Given the description of an element on the screen output the (x, y) to click on. 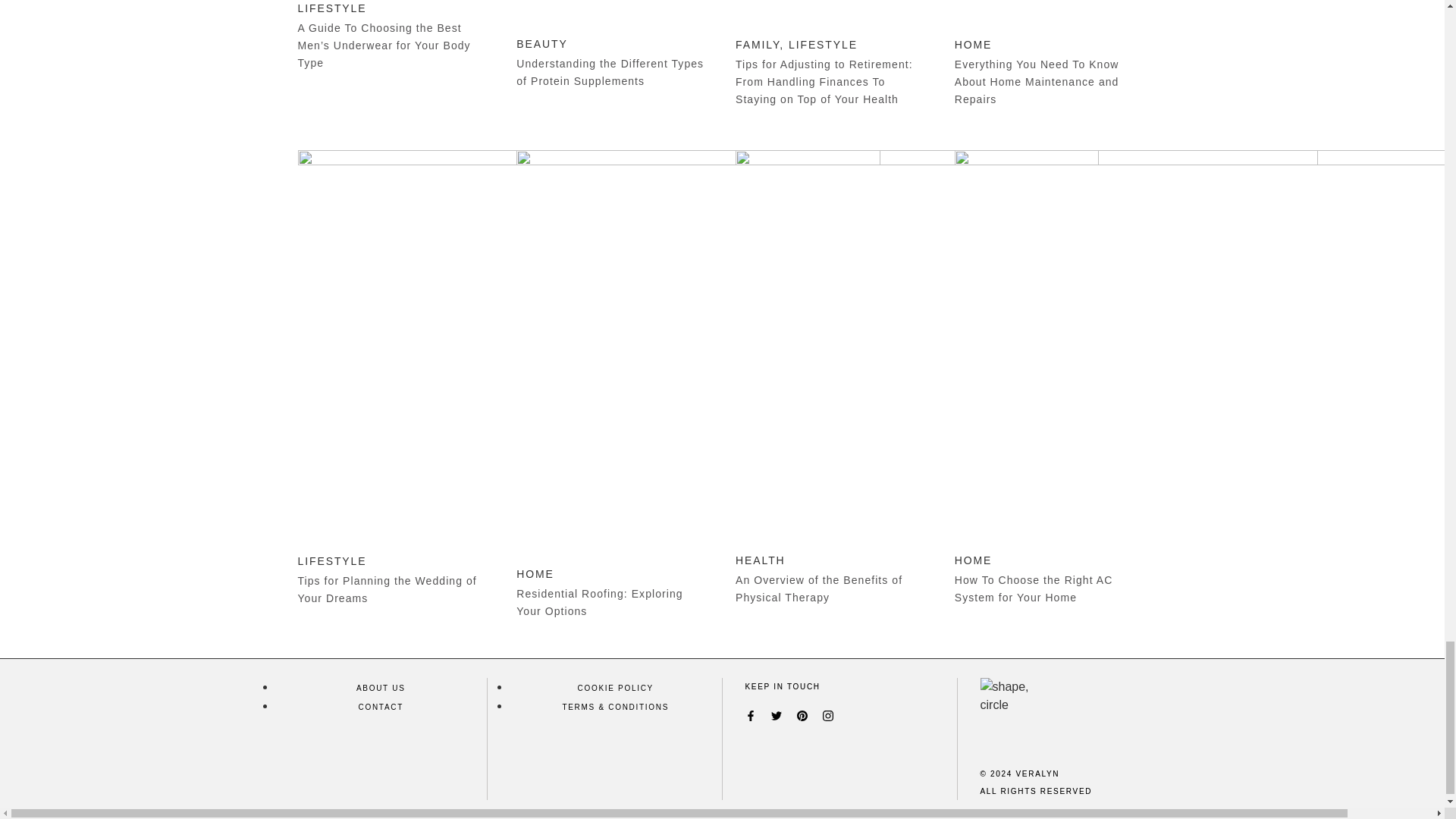
HOME (973, 44)
LIFESTYLE (331, 8)
Understanding the Different Types of Protein Supplements (609, 71)
LIFESTYLE (331, 561)
FAMILY (756, 44)
BEAUTY (541, 43)
LIFESTYLE (823, 44)
